Given the description of an element on the screen output the (x, y) to click on. 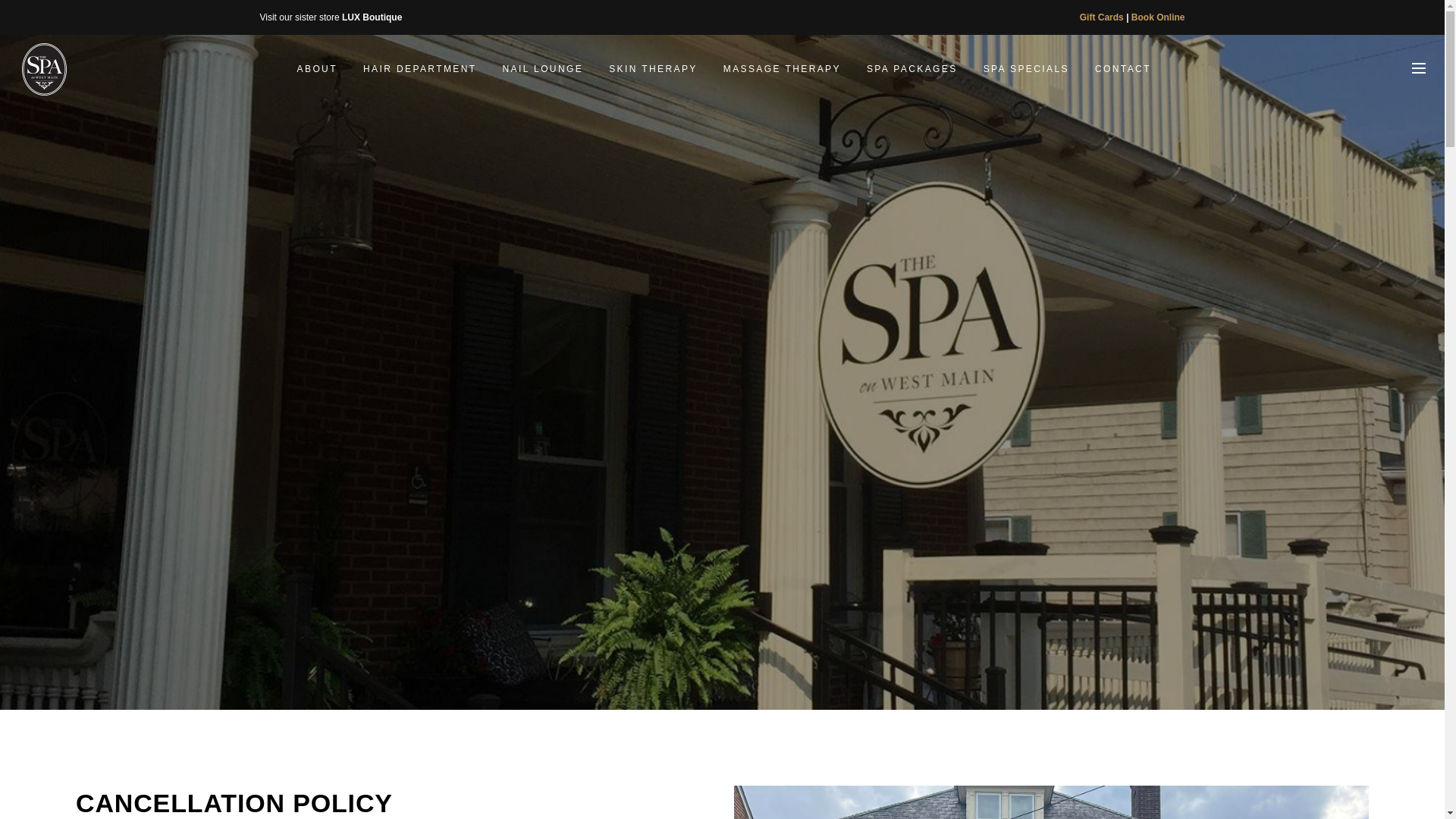
SKIN THERAPY (652, 69)
ABOUT (316, 69)
MASSAGE THERAPY (781, 69)
LUX Boutique (371, 17)
Book Online (1158, 17)
SPA SPECIALS (1026, 69)
NAIL LOUNGE (542, 69)
CONTACT (1122, 69)
HAIR DEPARTMENT (419, 69)
Gift Cards (1102, 17)
